Given the description of an element on the screen output the (x, y) to click on. 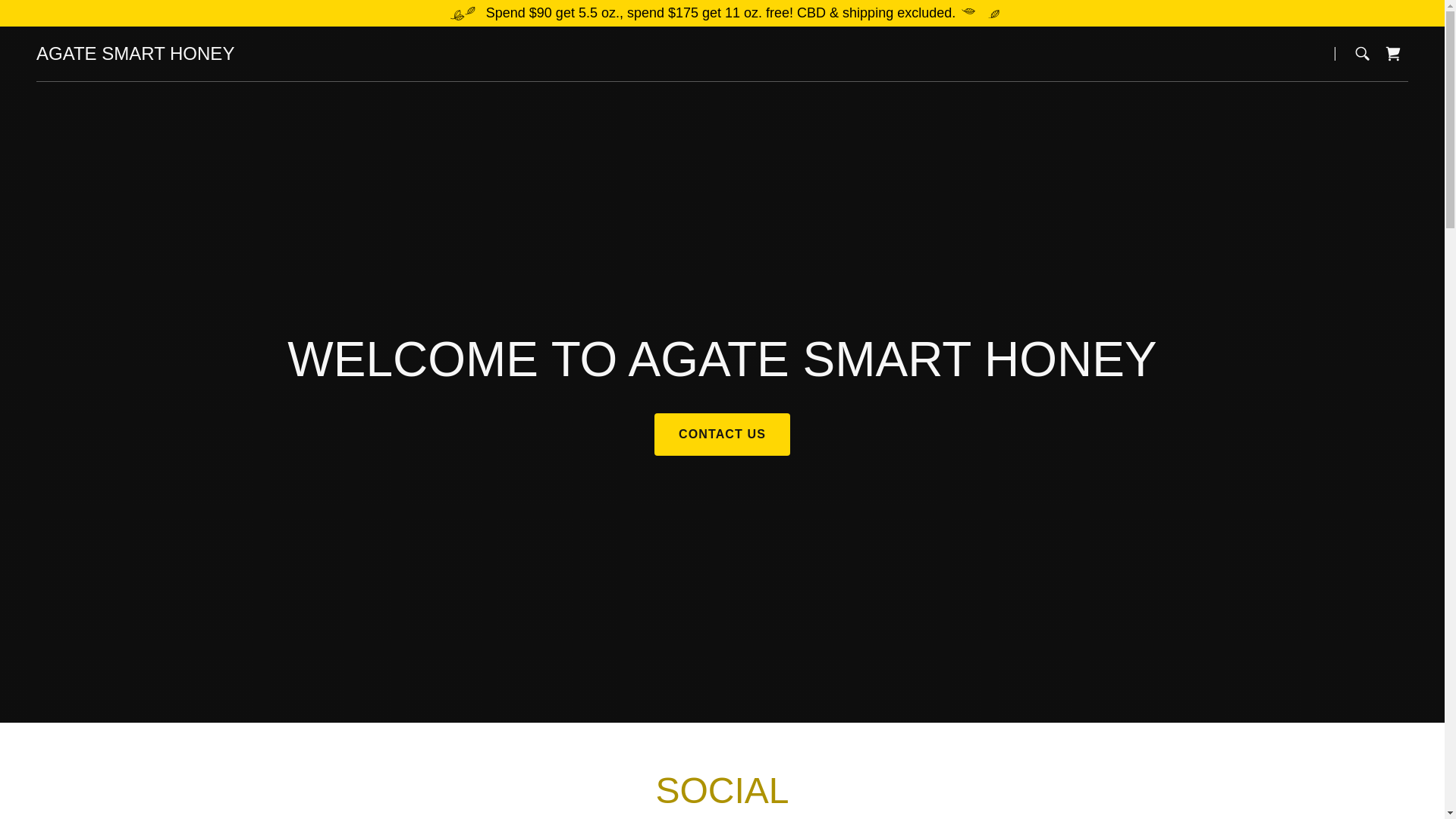
CONTACT US (721, 434)
AGATE SMART HONEY (135, 55)
Agate Smart Honey (135, 55)
